Given the description of an element on the screen output the (x, y) to click on. 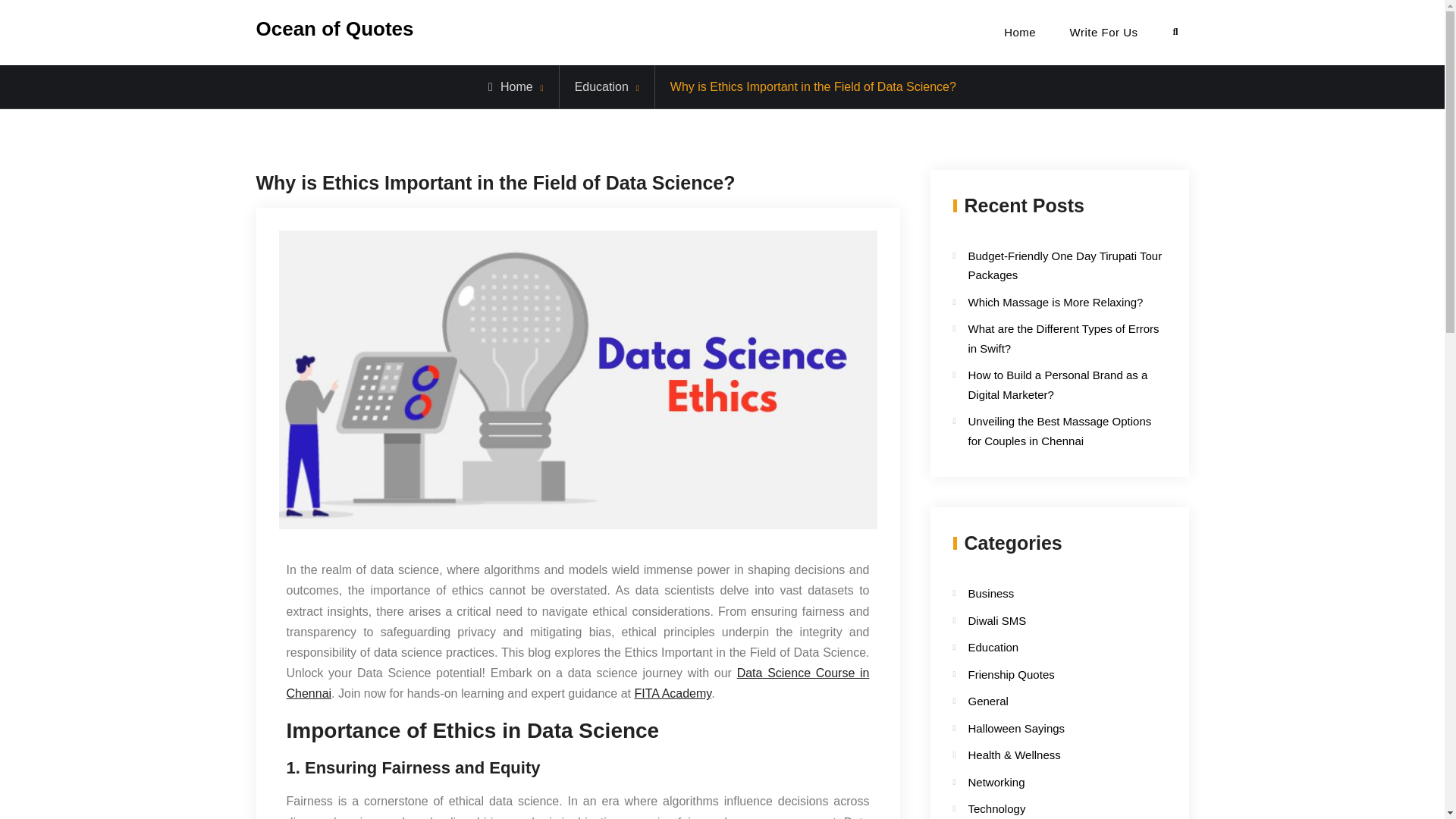
Education (601, 86)
Home (509, 86)
Data Science Course in Chennai (577, 683)
FITA Academy (672, 693)
Halloween Sayings (1046, 728)
Education (1046, 647)
Networking (1046, 782)
Budget-Friendly One Day Tirupati Tour Packages (1064, 265)
Which Massage is More Relaxing? (1055, 301)
Ocean of Quotes (334, 28)
Search (1174, 31)
How to Build a Personal Brand as a Digital Marketer? (1057, 384)
Unveiling the Best Massage Options for Couples in Chennai (1059, 430)
Write For Us (1103, 31)
Diwali SMS (1046, 620)
